Given the description of an element on the screen output the (x, y) to click on. 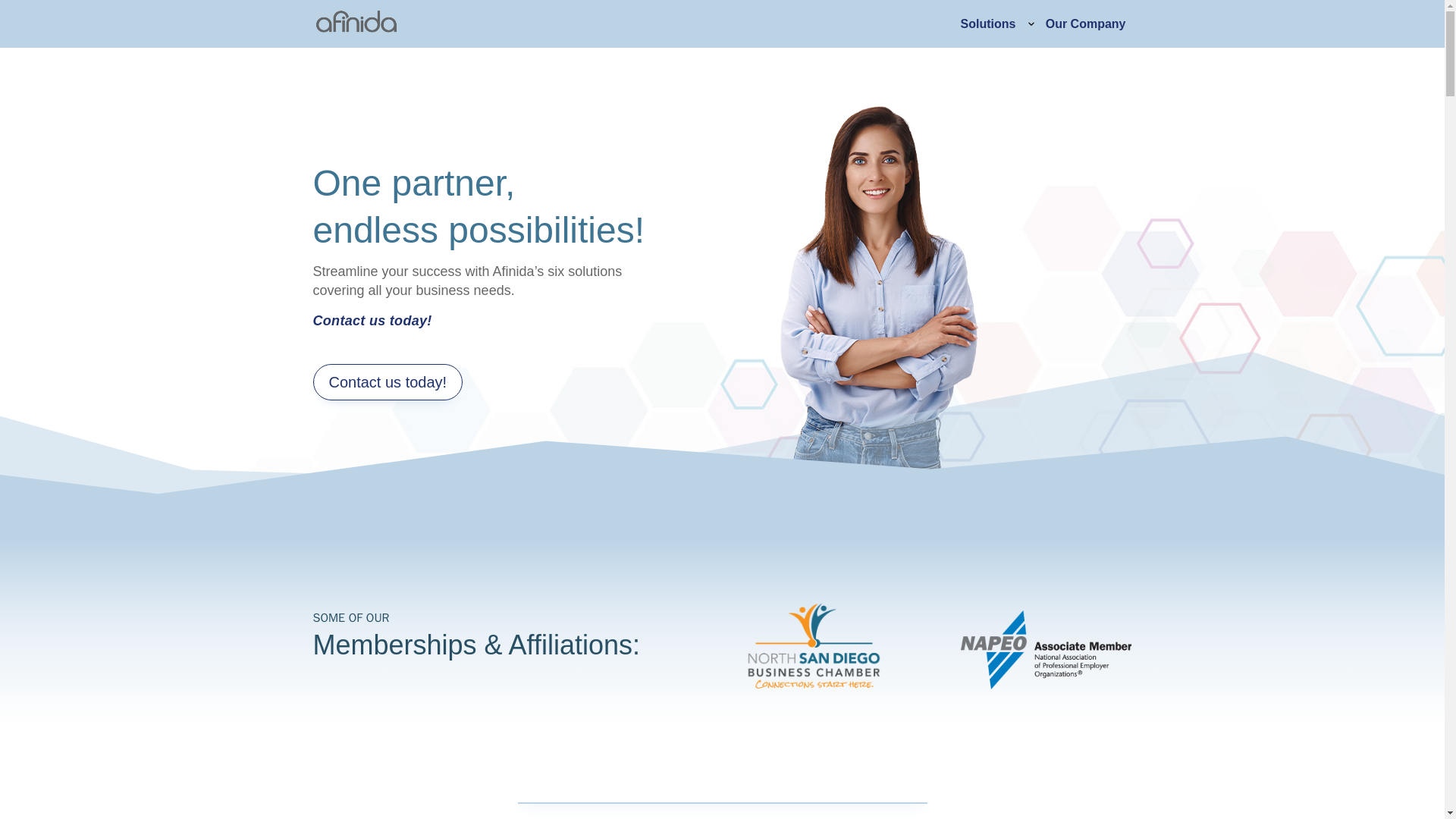
Our Company (1085, 23)
Contact us today! (388, 381)
Solutions (987, 23)
